Given the description of an element on the screen output the (x, y) to click on. 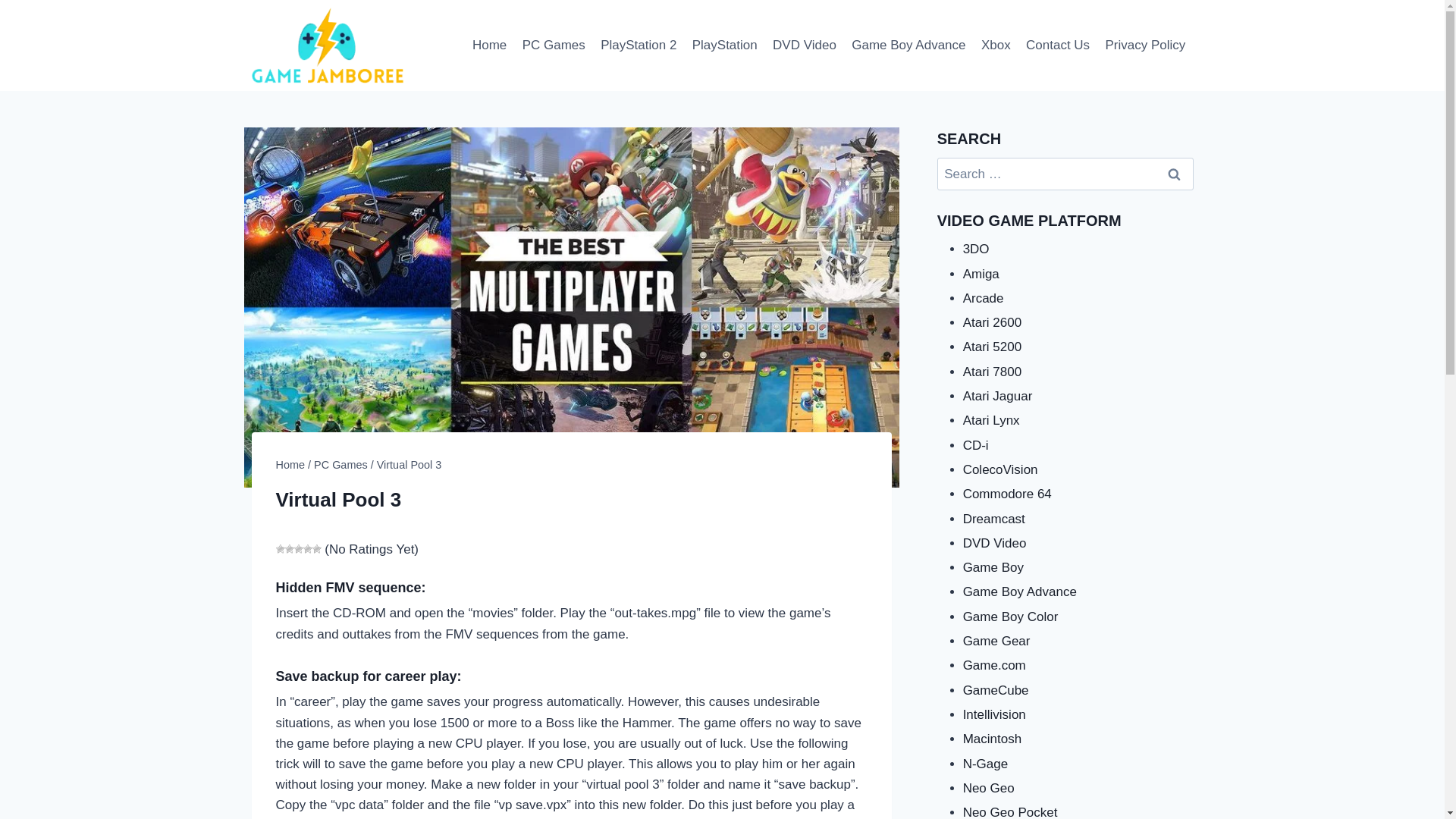
PC Games (552, 45)
Game Boy Advance (909, 45)
Home (489, 45)
2 Stars (289, 548)
PC Games (341, 464)
PlayStation 2 (638, 45)
1 Star (280, 548)
4 Stars (307, 548)
3 Stars (298, 548)
Privacy Policy (1144, 45)
